Given the description of an element on the screen output the (x, y) to click on. 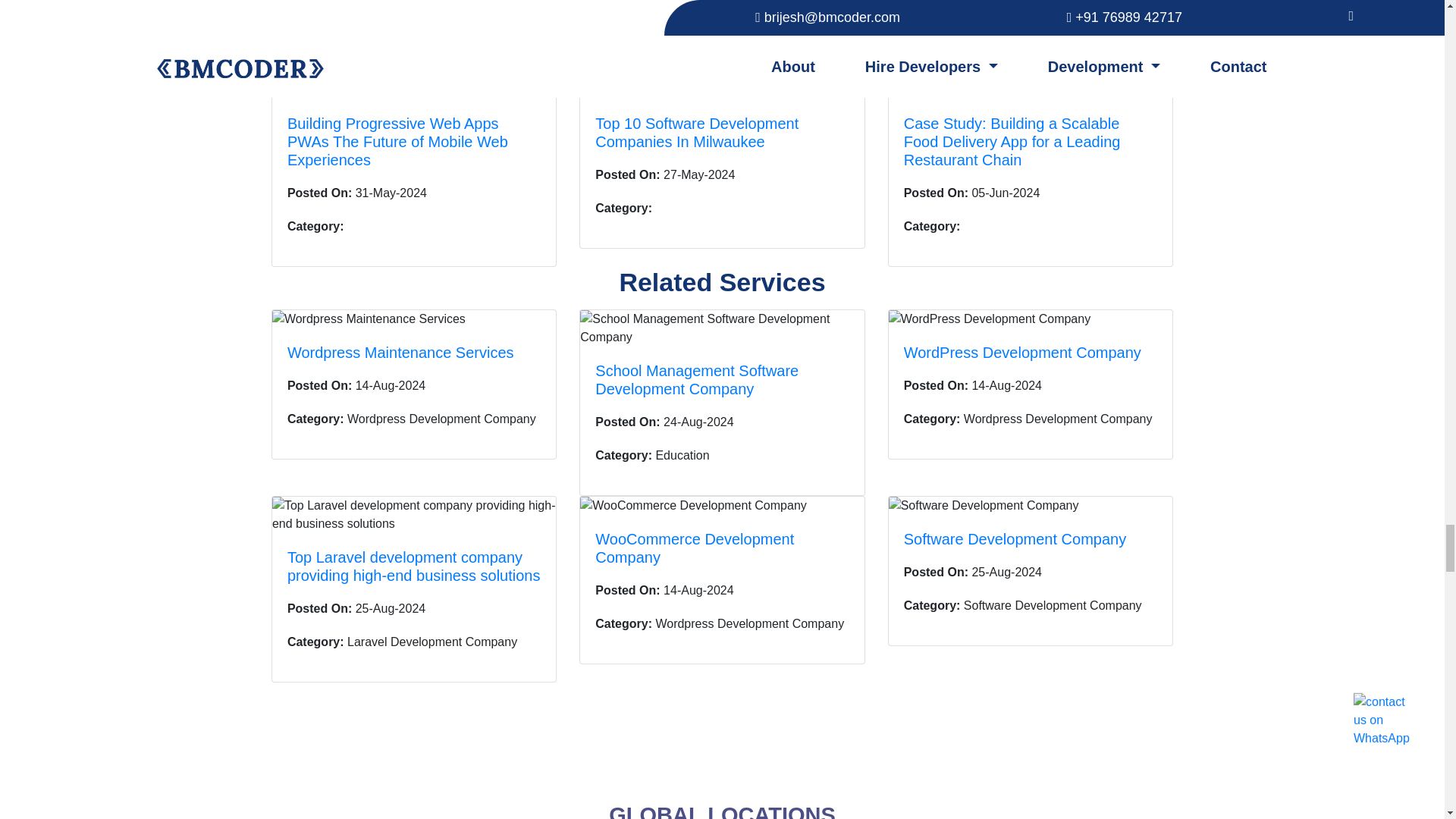
Top 10 Software Development Companies In Milwaukee (696, 132)
Top 10 Software Development Companies In Milwaukee (696, 132)
Software Development Company (1014, 538)
Wordpress Maintenance Services (399, 352)
School Management Software Development Company (696, 379)
WordPress Development Company (1022, 352)
